Given the description of an element on the screen output the (x, y) to click on. 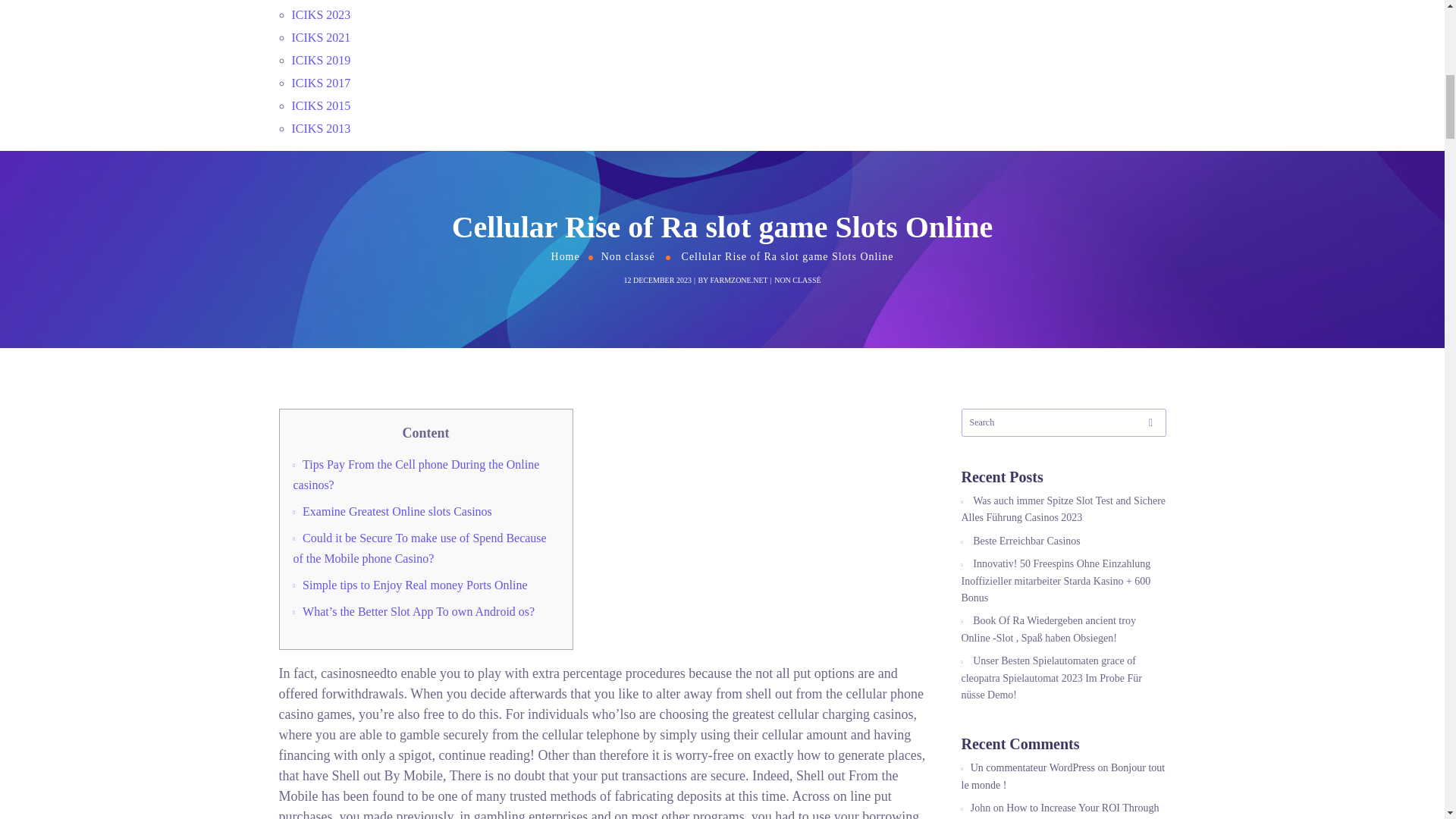
ICIKS 2023 (320, 14)
ICIKS 2021 (320, 37)
ICIKS 2019 (320, 60)
ICIKS 2017 (320, 82)
ICIKS 2015 (320, 105)
